Given the description of an element on the screen output the (x, y) to click on. 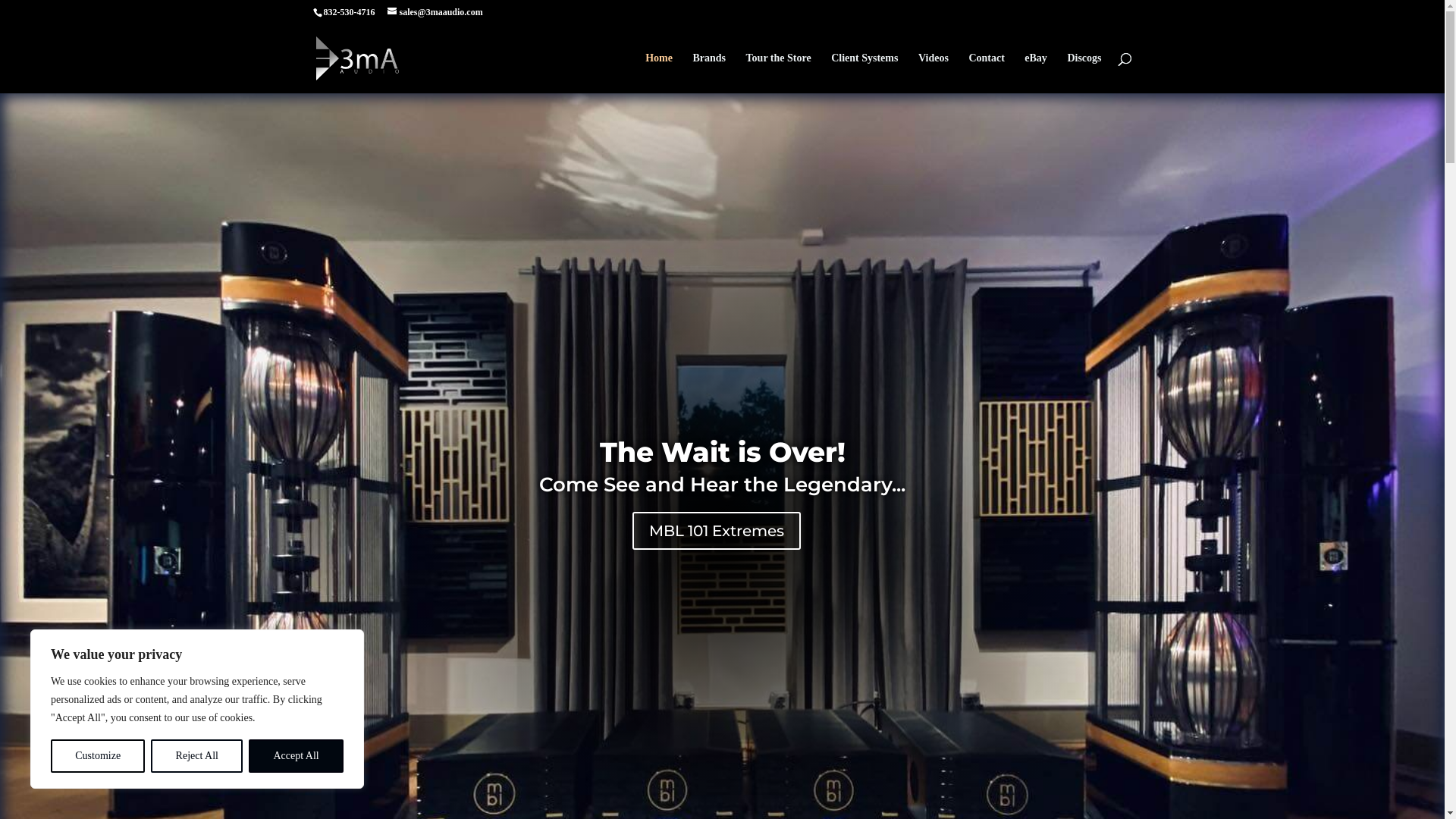
MBL 101 Extremes Element type: text (716, 530)
Reject All Element type: text (196, 755)
Customize Element type: text (97, 755)
Accept All Element type: text (295, 755)
eBay Element type: text (1035, 73)
sales@3maaudio.com Element type: text (434, 11)
Tour the Store Element type: text (778, 73)
Client Systems Element type: text (864, 73)
Brands Element type: text (708, 73)
Videos Element type: text (933, 73)
Contact Element type: text (986, 73)
Discogs Element type: text (1083, 73)
Home Element type: text (658, 73)
